Given the description of an element on the screen output the (x, y) to click on. 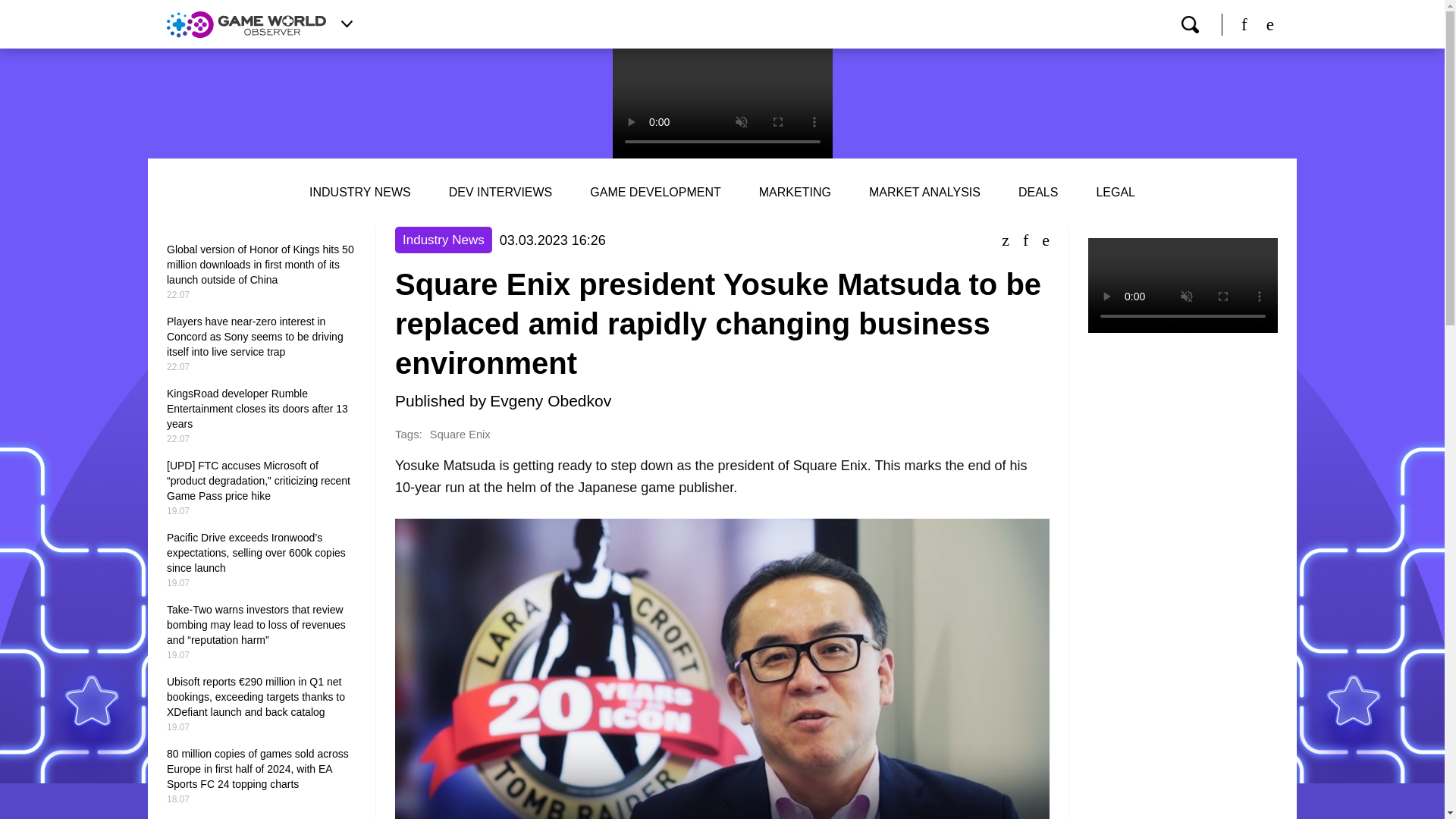
LEGAL (1115, 192)
DEALS (1037, 192)
GAME DEVELOPMENT (654, 192)
DEV INTERVIEWS (500, 192)
MARKETING (794, 192)
MARKET ANALYSIS (924, 192)
Home (246, 23)
Search (1189, 23)
INDUSTRY NEWS (359, 192)
